Given the description of an element on the screen output the (x, y) to click on. 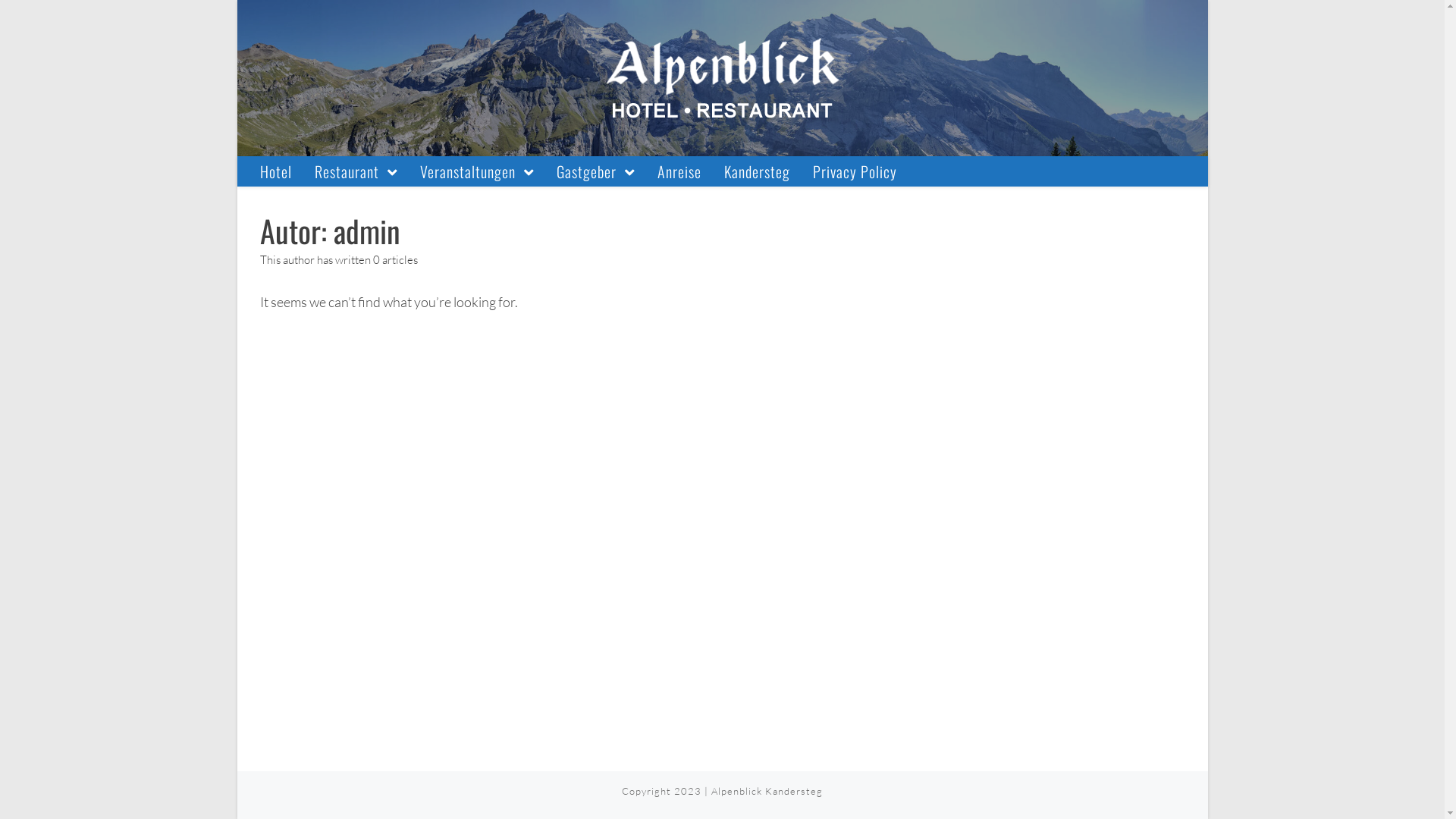
Restaurant Element type: text (355, 171)
Veranstaltungen Element type: text (475, 171)
Kandersteg Element type: text (756, 171)
Privacy Policy Element type: text (853, 171)
Anreise Element type: text (679, 171)
Gastgeber Element type: text (594, 171)
Hotel Element type: text (275, 171)
